Given the description of an element on the screen output the (x, y) to click on. 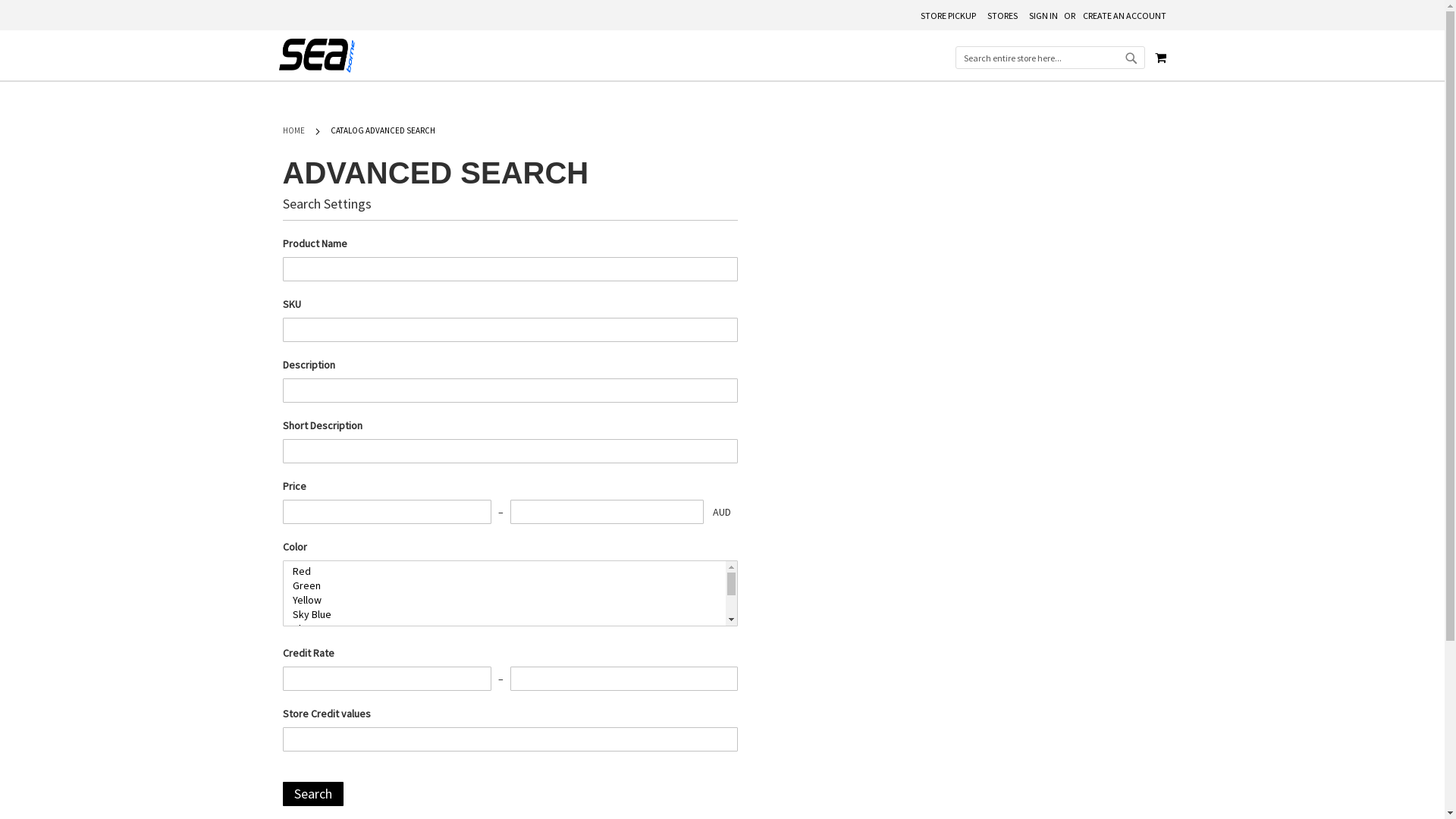
Description Element type: hover (509, 390)
STORE PICKUP Element type: text (947, 15)
HOME Element type: text (293, 130)
Product Name Element type: hover (509, 269)
STORES Element type: text (1002, 15)
Search Element type: text (312, 793)
Credit Rate Element type: hover (386, 678)
Short Description Element type: hover (509, 451)
Price Element type: hover (386, 511)
SIGN IN Element type: text (1042, 15)
Price Element type: hover (605, 511)
SKU Element type: hover (509, 329)
SEARCH Element type: text (1131, 58)
MY CART Element type: text (1159, 57)
CREATE AN ACCOUNT Element type: text (1124, 15)
Store Credit values Element type: hover (509, 739)
Seaborne Clothing Custom Sports and School Uniforms Element type: hover (316, 55)
Credit Rate Element type: hover (623, 678)
